Given the description of an element on the screen output the (x, y) to click on. 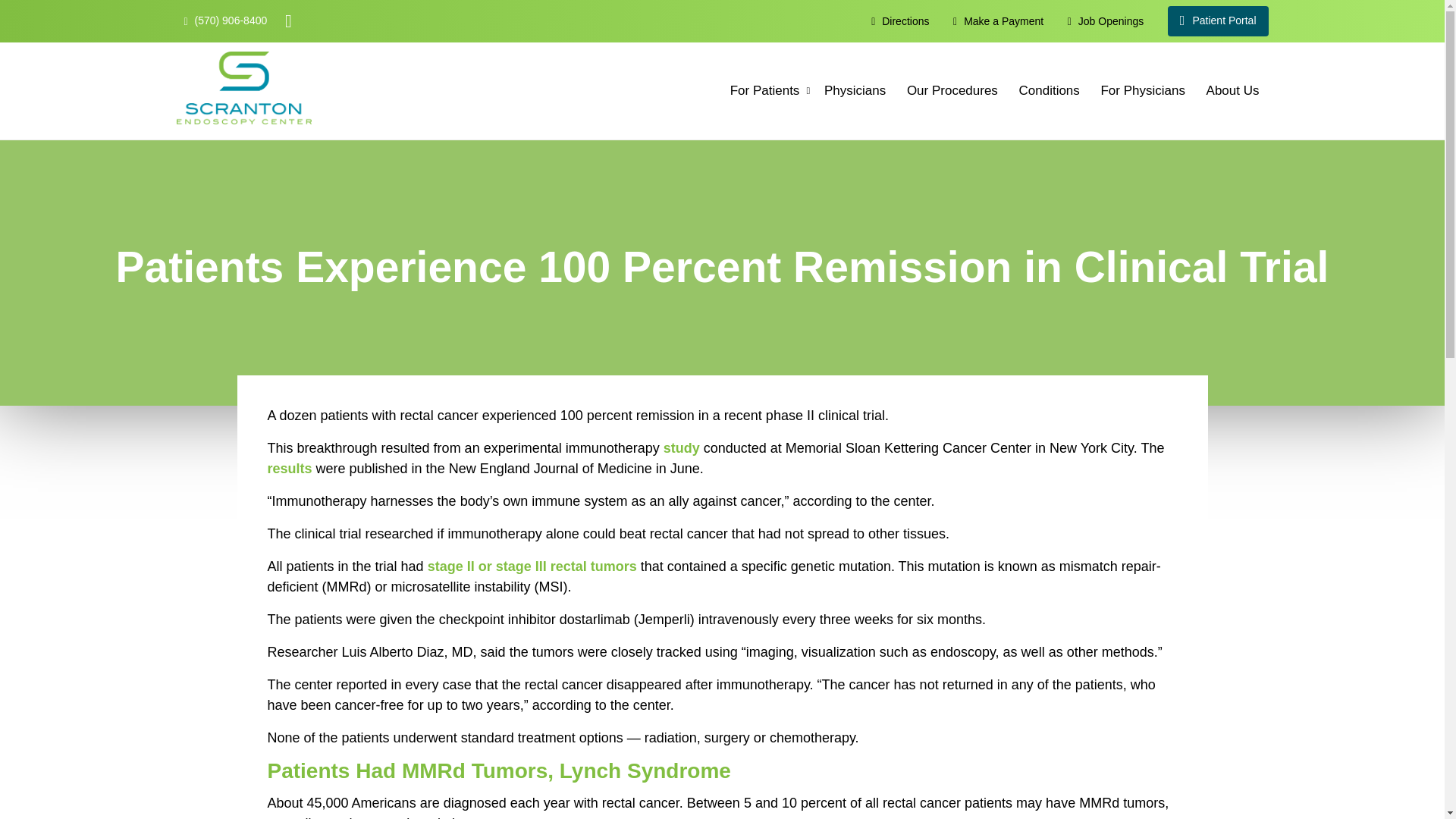
Patient Portal (1217, 20)
Job Openings (1104, 20)
Conditions (1049, 90)
study (681, 447)
Directions (899, 20)
Scranton Endoscopy Center (243, 87)
Make a Payment (998, 20)
About Us (1232, 90)
results (288, 468)
For Patients (764, 90)
Physicians (855, 90)
For Physicians (1141, 90)
stage II or stage III rectal tumors (532, 566)
Our Procedures (952, 90)
